Given the description of an element on the screen output the (x, y) to click on. 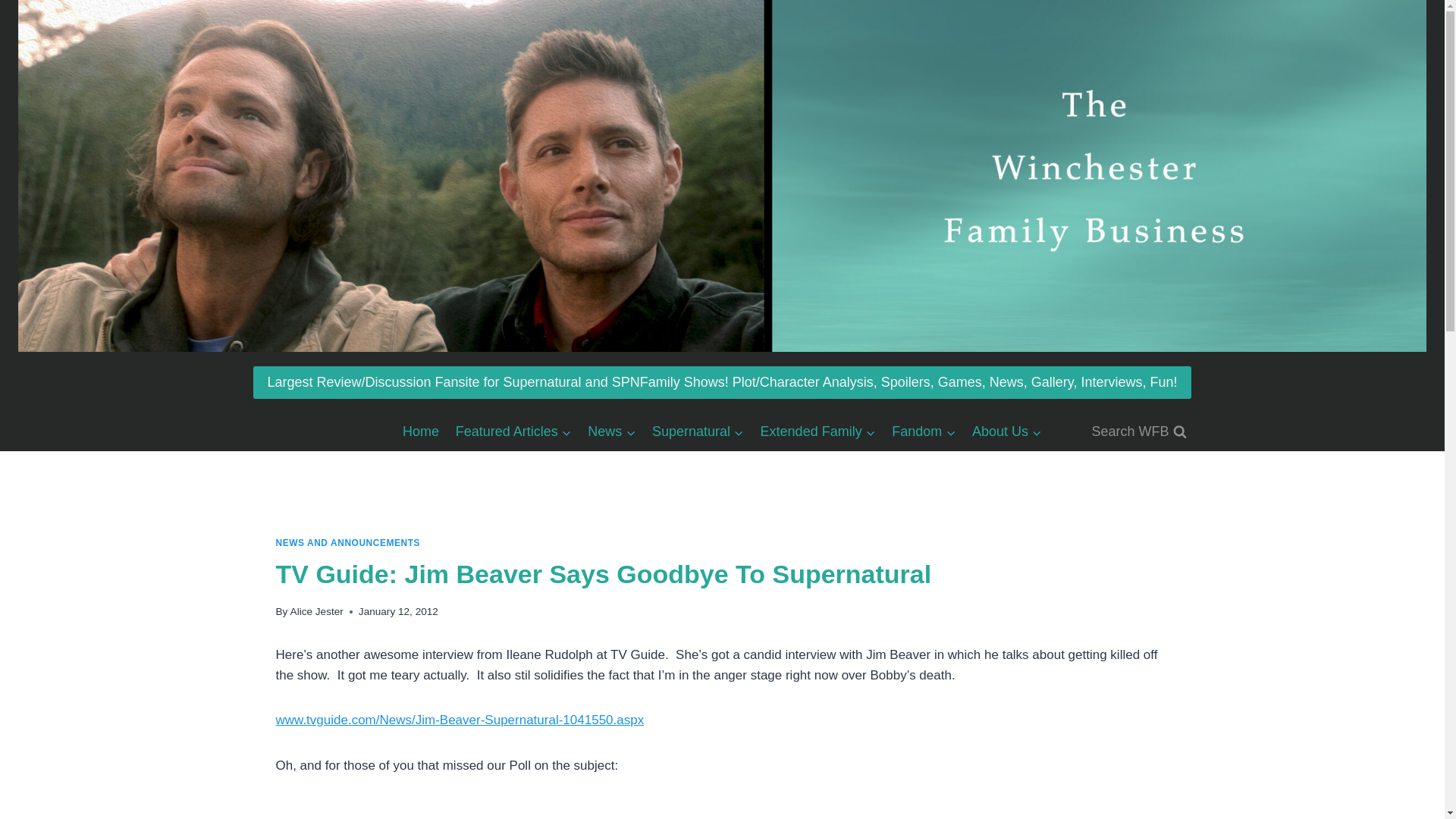
About Us (1006, 431)
NEWS AND ANNOUNCEMENTS (348, 542)
Search WFB (1138, 431)
News (612, 431)
Extended Family (817, 431)
Home (420, 431)
Fandom (923, 431)
Featured Articles (512, 431)
Alice Jester (316, 611)
Supernatural (697, 431)
